Given the description of an element on the screen output the (x, y) to click on. 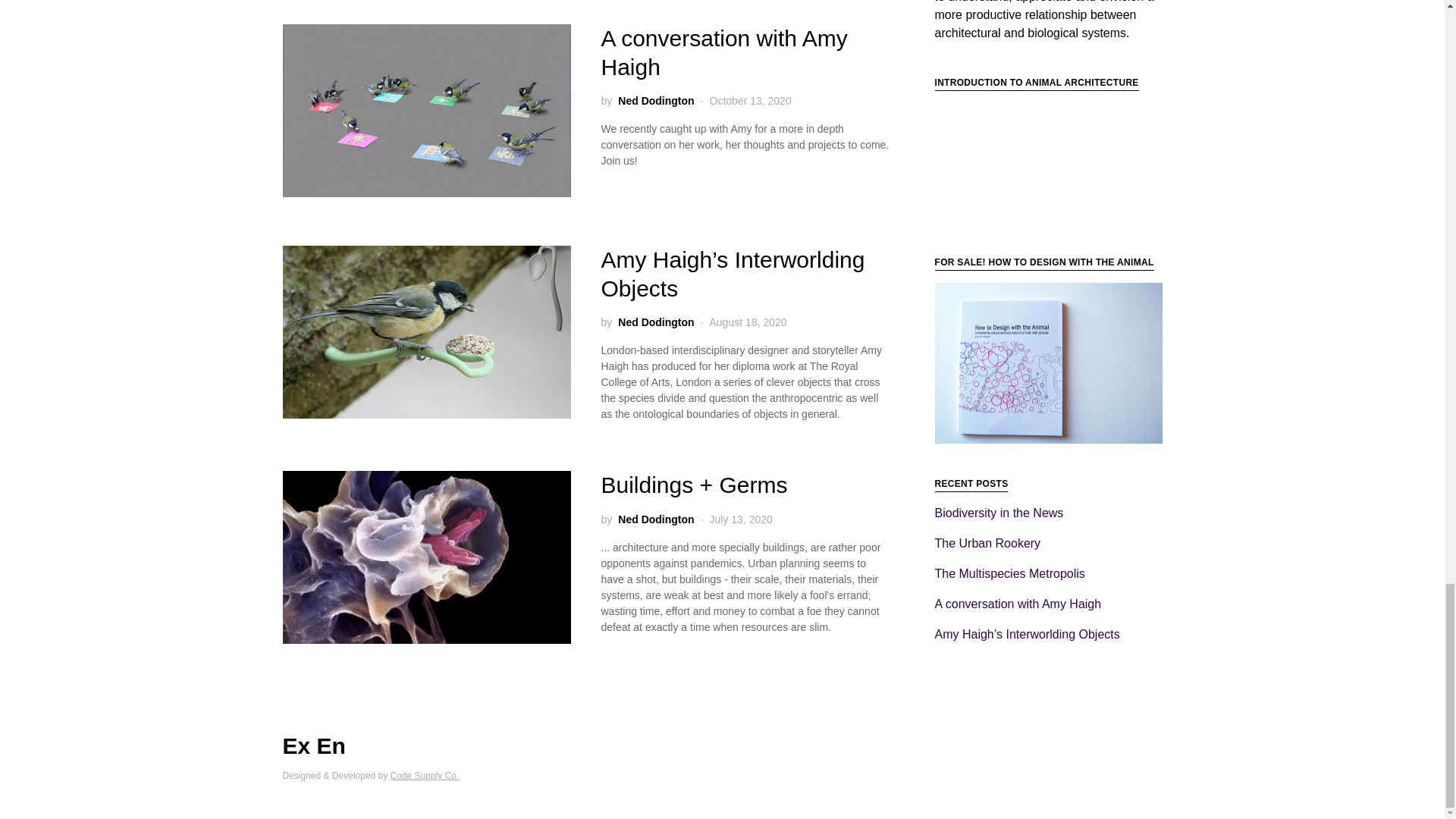
View all posts by Ned Dodington (655, 100)
View all posts by Ned Dodington (655, 322)
View all posts by Ned Dodington (655, 519)
